Given the description of an element on the screen output the (x, y) to click on. 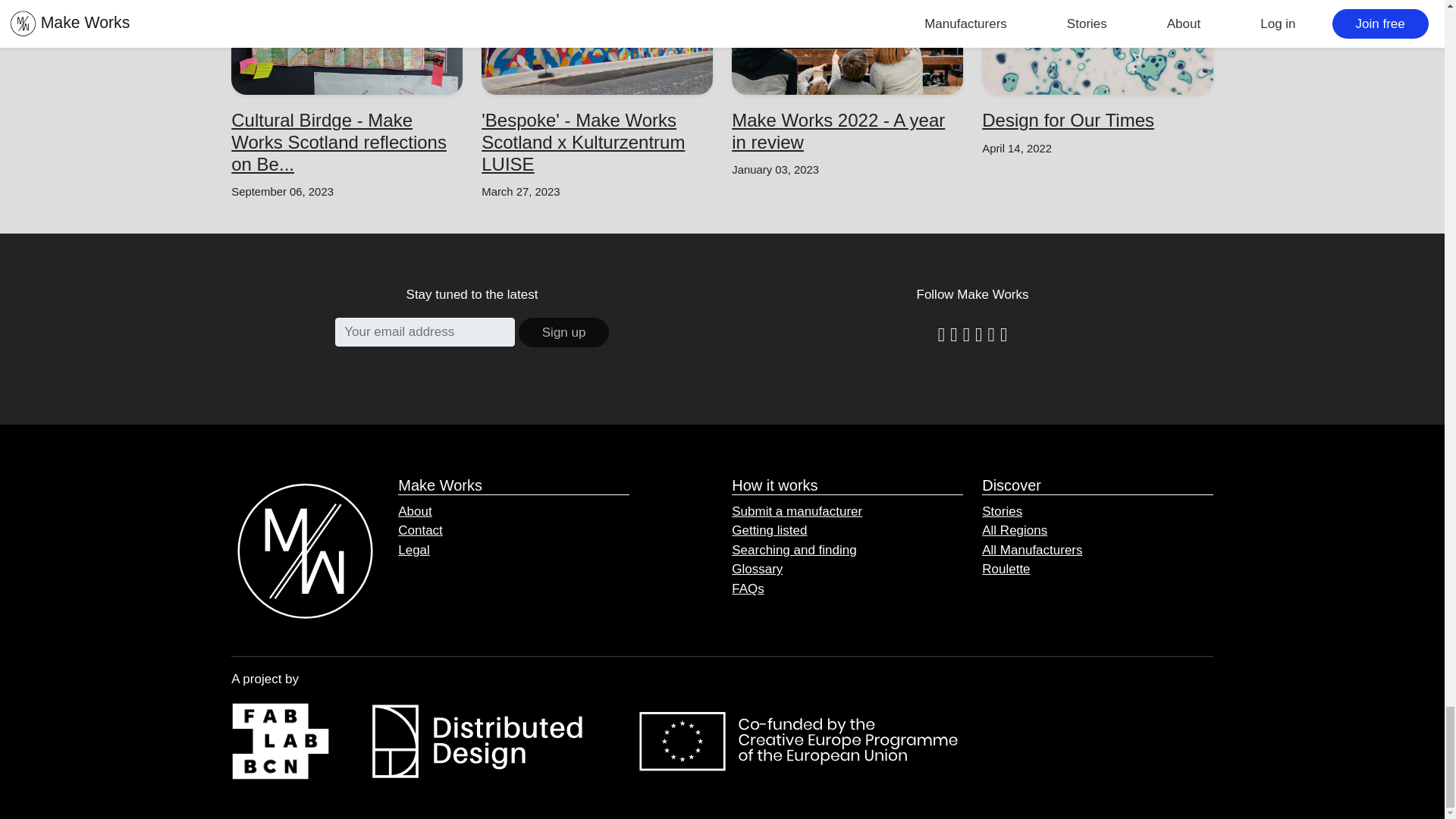
Design for Our Times (1067, 119)
Cultural Birdge - Make Works Scotland reflections on Be... (338, 141)
'Bespoke' - Make Works Scotland x Kulturzentrum LUISE (582, 141)
Sign up (564, 332)
Make Works 2022 - A year in review  (847, 131)
Make Works 2022 - A year in review (838, 130)
'Bespoke' - Make Works Scotland x Kulturzentrum LUISE (597, 142)
Design for Our Times (1096, 120)
giphy (990, 332)
GitHub (1003, 332)
